Given the description of an element on the screen output the (x, y) to click on. 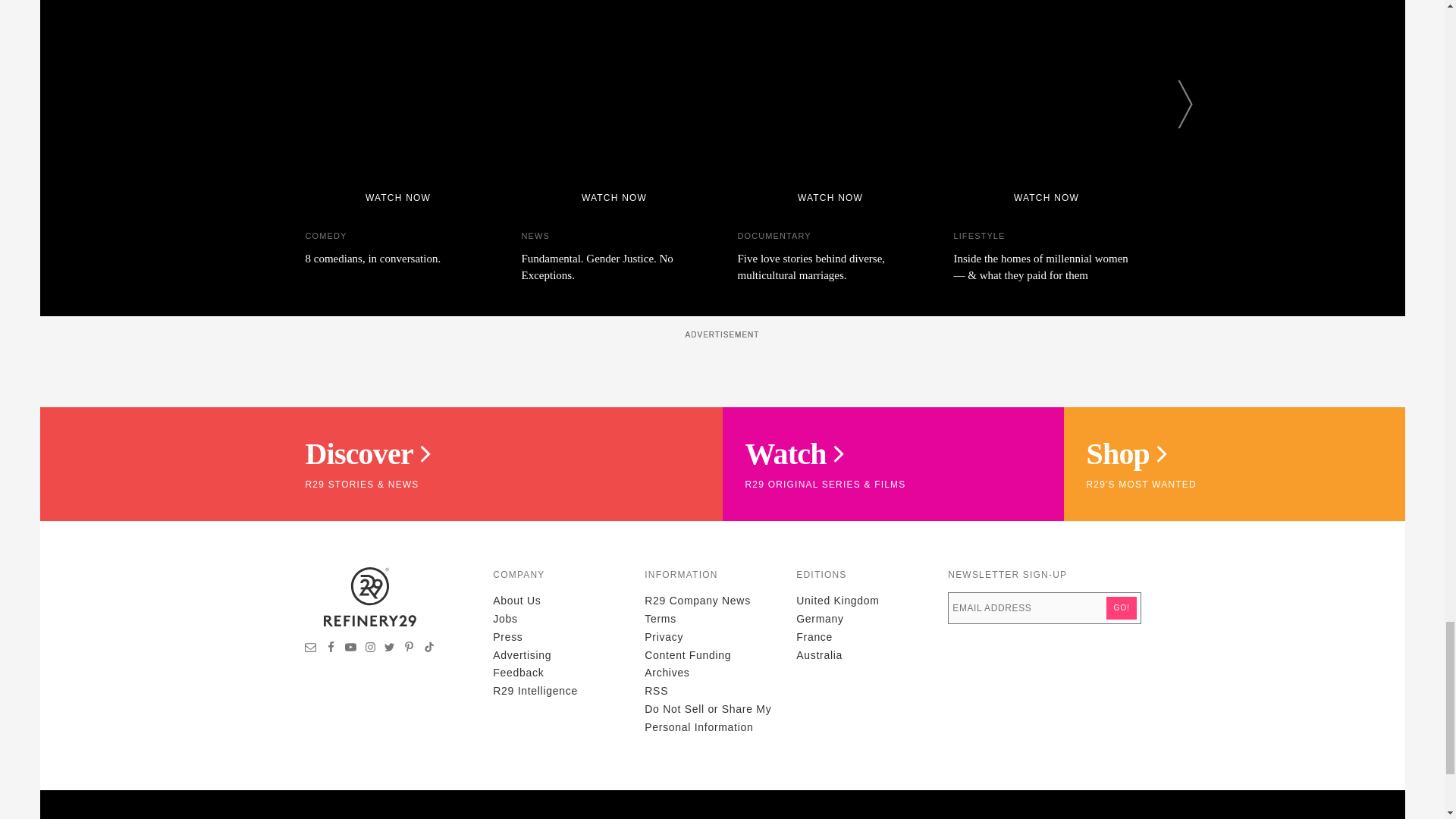
Visit Refinery29 on Facebook (331, 648)
Visit Refinery29 on Twitter (389, 648)
Sign up for newsletters (310, 648)
Visit Refinery29 on Instagram (370, 648)
Visit Refinery29 on YouTube (350, 648)
Next (1184, 103)
